Given the description of an element on the screen output the (x, y) to click on. 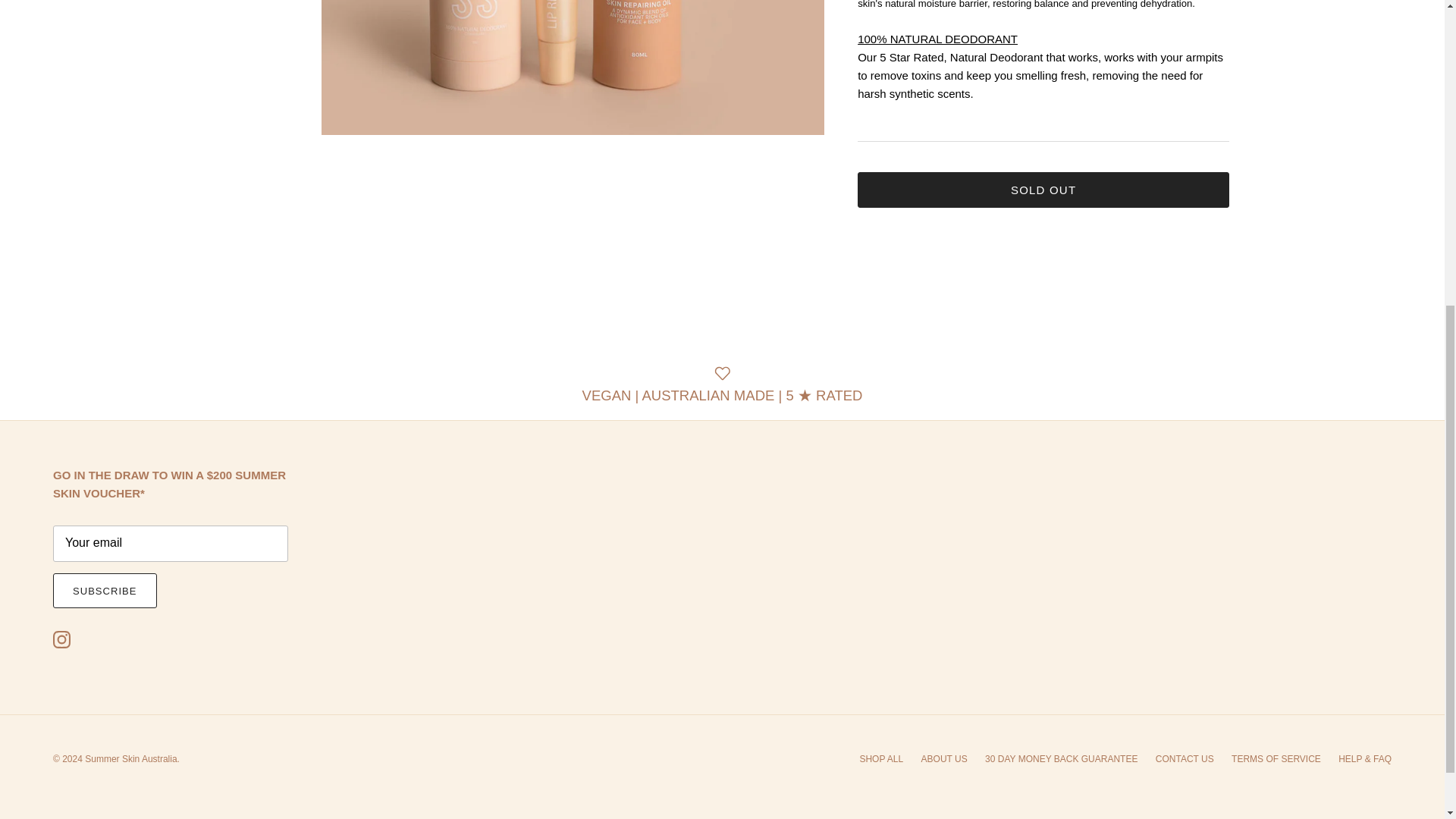
Summer Skin Australia on Instagram (60, 639)
SOLD OUT (1042, 189)
